Given the description of an element on the screen output the (x, y) to click on. 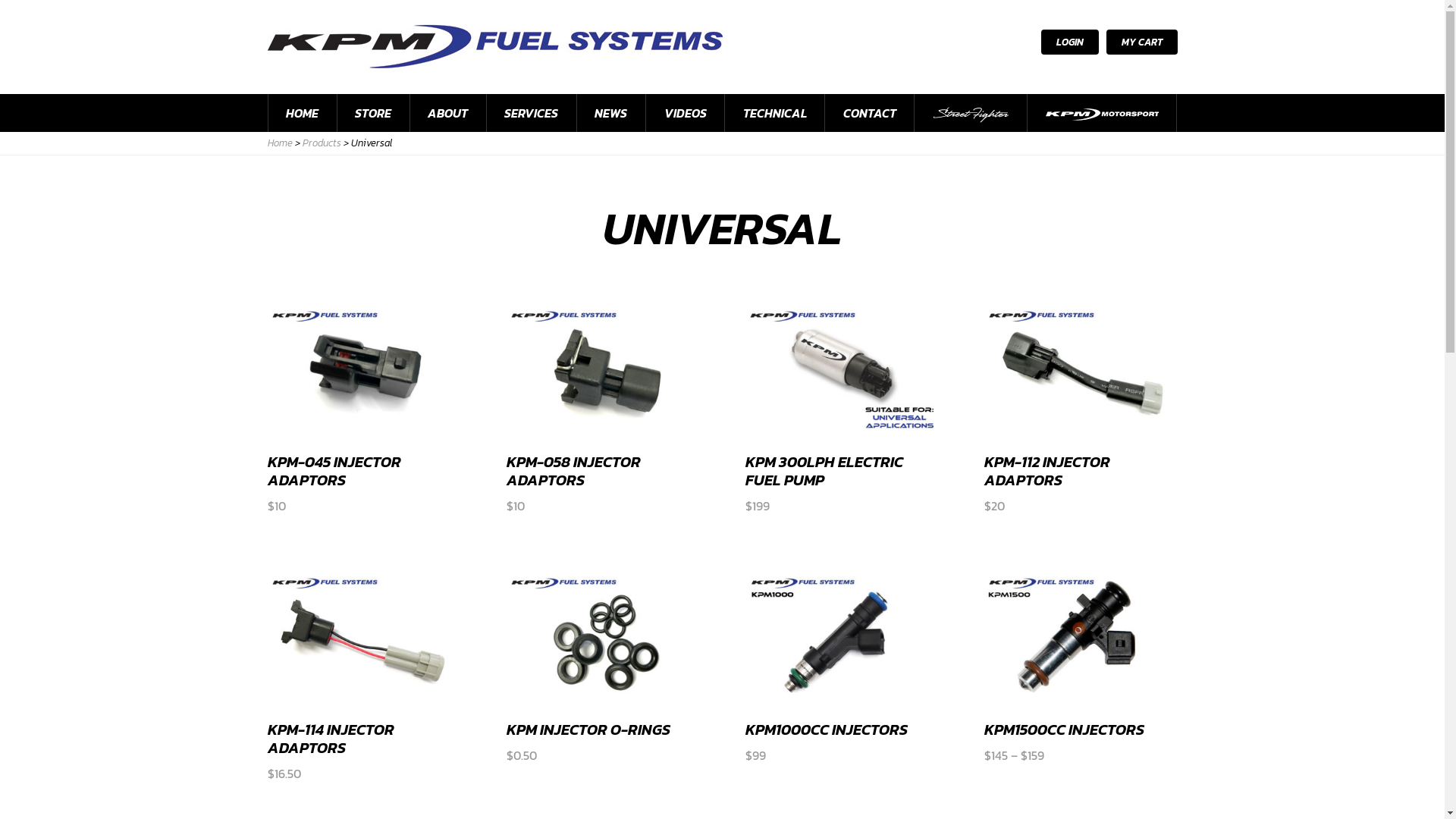
HOME Element type: text (302, 112)
KPM-045 INJECTOR ADAPTORS
$10 Element type: text (363, 408)
MY CART Element type: text (1140, 41)
LOGIN Element type: text (1069, 41)
NEWS Element type: text (611, 112)
VIDEOS Element type: text (685, 112)
TECHNICAL Element type: text (774, 112)
KPM-114 INJECTOR ADAPTORS
$16.50 Element type: text (363, 675)
KPM1000CC INJECTORS
$99 Element type: text (841, 666)
Products Element type: text (320, 142)
STORE Element type: text (373, 112)
KPM INJECTOR O-RINGS
$0.50 Element type: text (602, 666)
KPM 300LPH ELECTRIC FUEL PUMP
$199 Element type: text (841, 408)
KPM-112 INJECTOR ADAPTORS
$20 Element type: text (1080, 408)
Home Element type: text (278, 142)
KPM-058 INJECTOR ADAPTORS
$10 Element type: text (602, 408)
ABOUT Element type: text (448, 112)
SERVICES Element type: text (531, 112)
CONTACT Element type: text (869, 112)
